Given the description of an element on the screen output the (x, y) to click on. 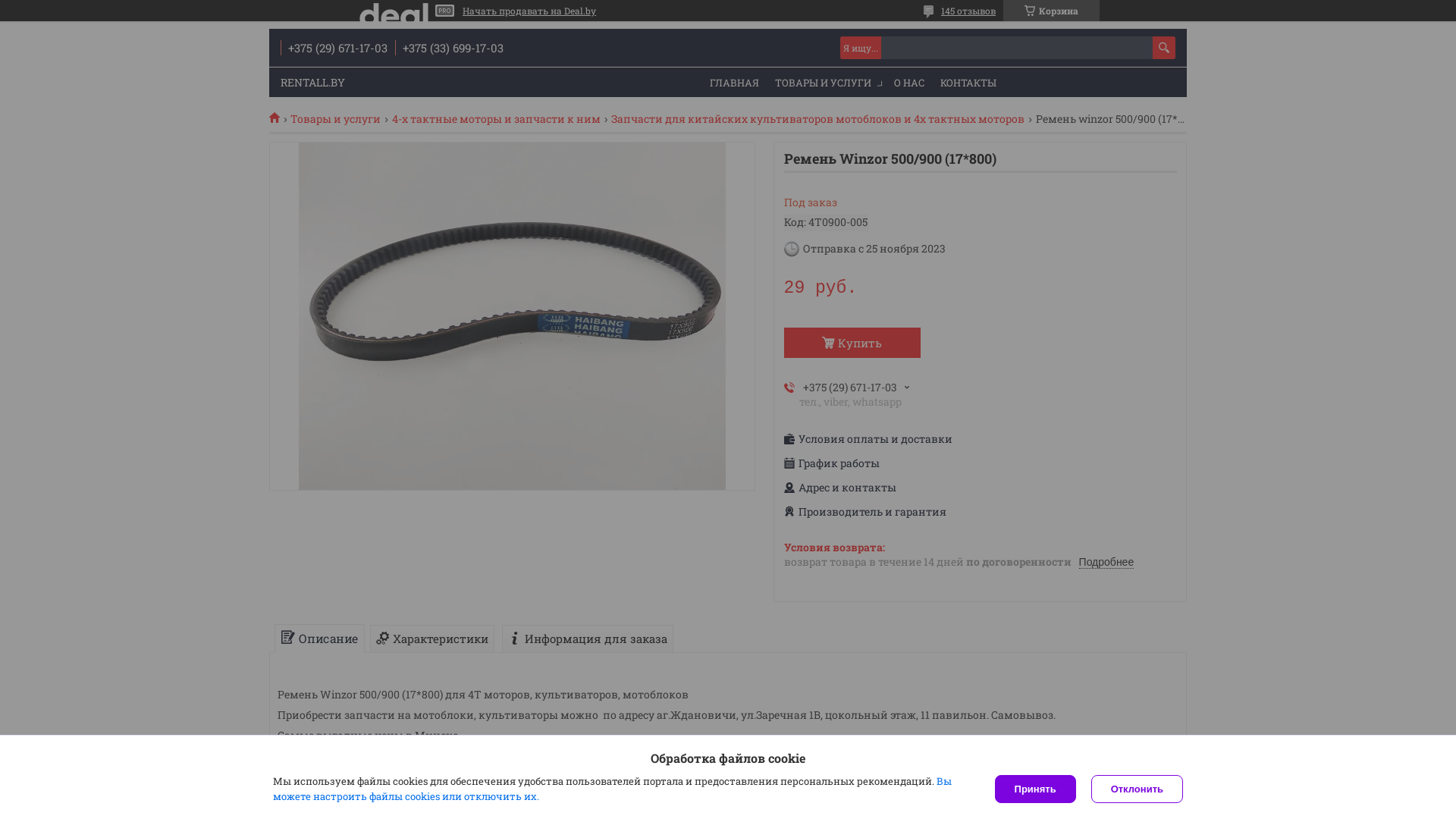
Rentall.by Element type: hover (279, 117)
